Given the description of an element on the screen output the (x, y) to click on. 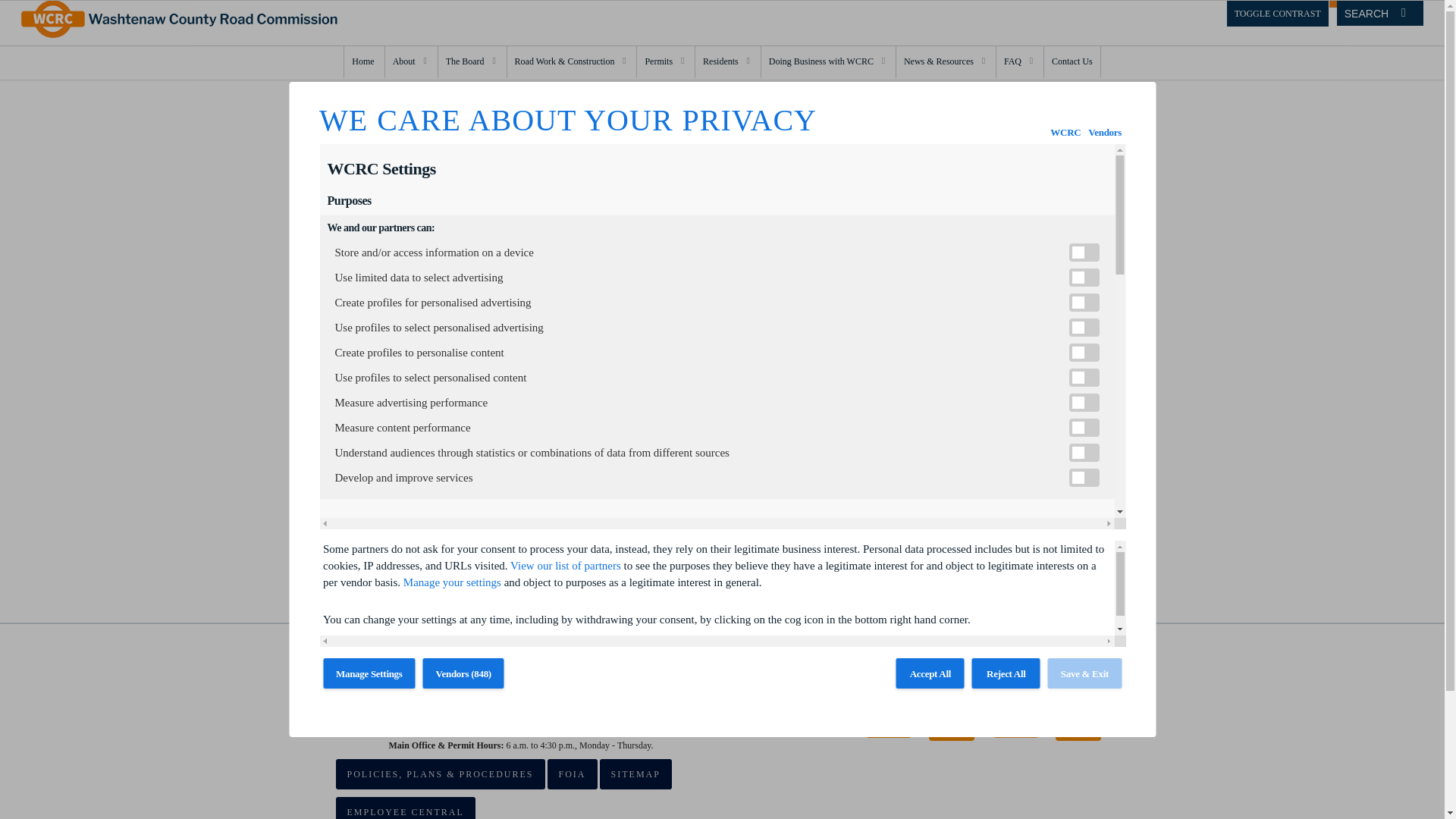
SEARCH (1379, 12)
About (409, 62)
Home (362, 62)
Permits (1085, 123)
The Board (664, 62)
Residents (470, 62)
TOGGLE CONTRAST (726, 62)
